Given the description of an element on the screen output the (x, y) to click on. 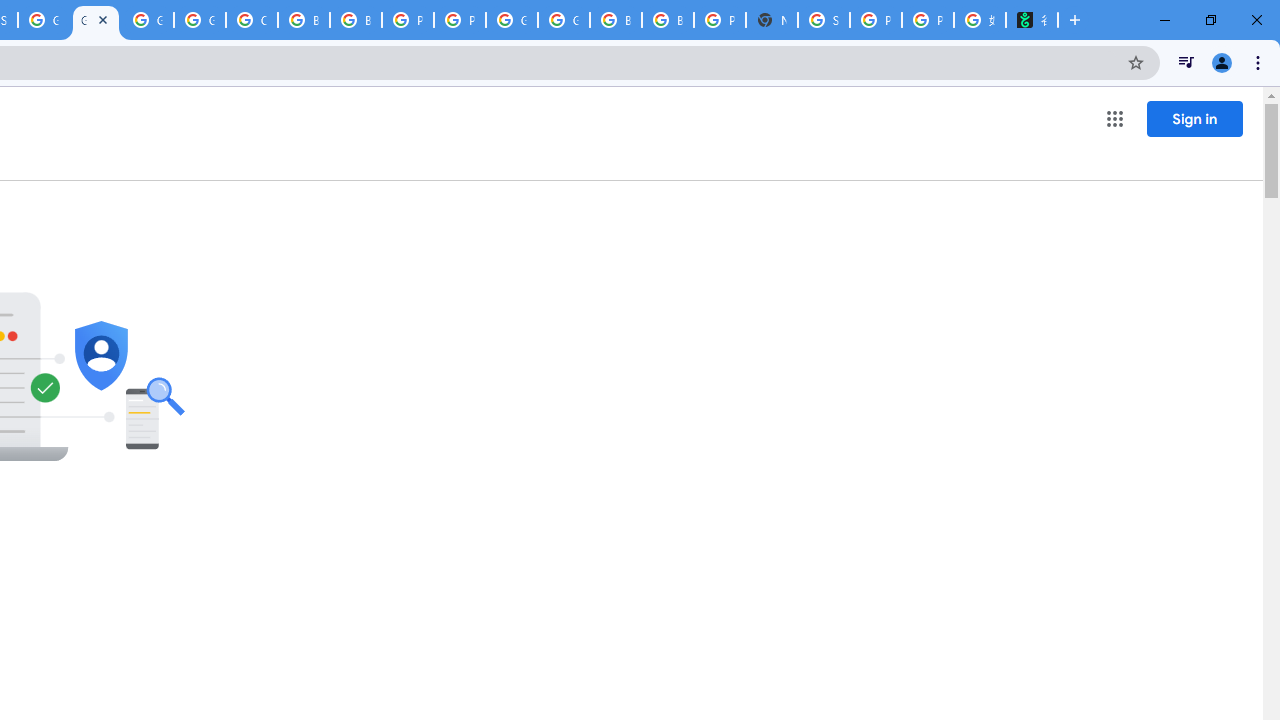
New Tab (771, 20)
Browse Chrome as a guest - Computer - Google Chrome Help (616, 20)
Google Cloud Platform (511, 20)
Sign in - Google Accounts (823, 20)
Google Cloud Platform (147, 20)
